Given the description of an element on the screen output the (x, y) to click on. 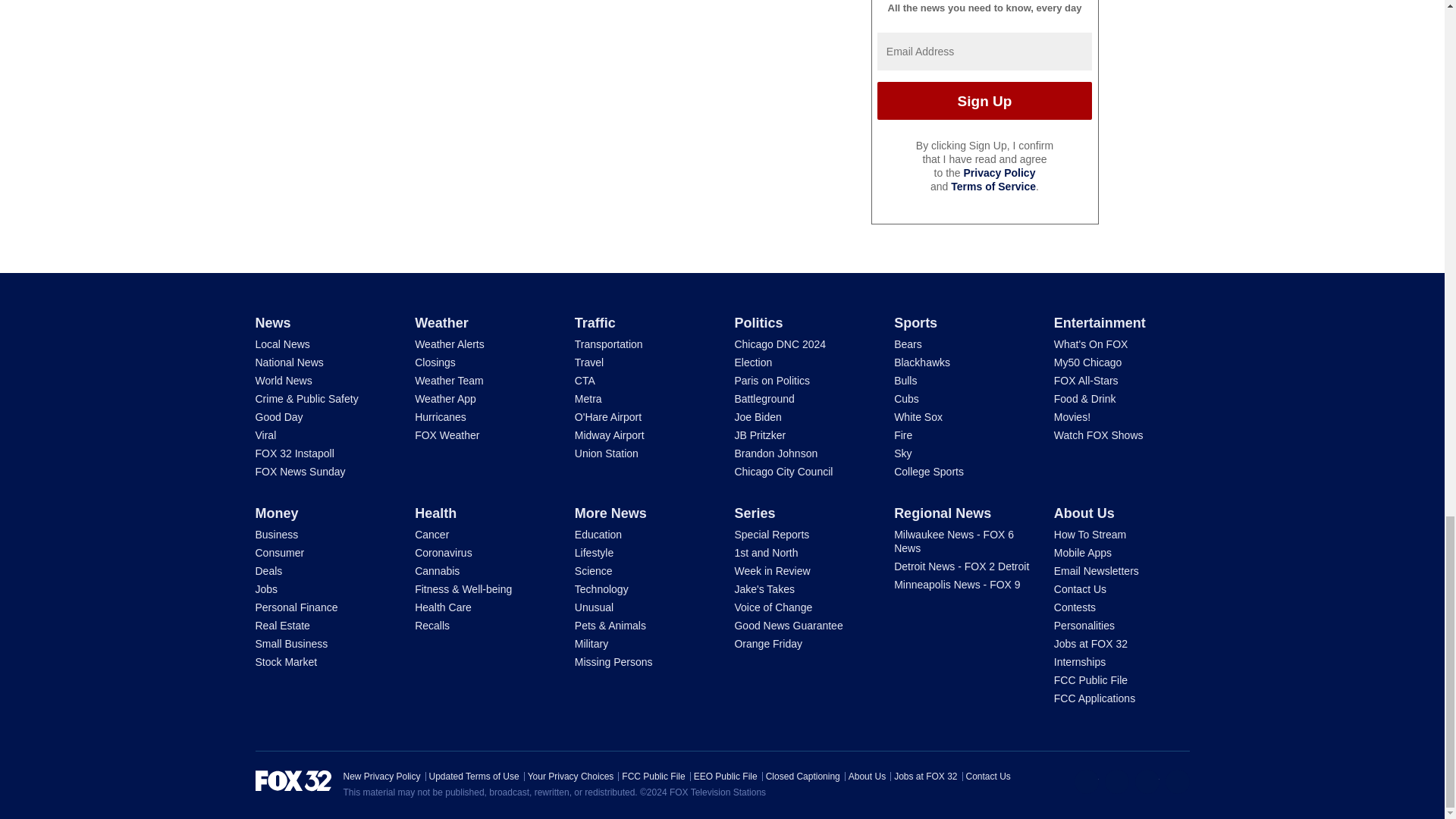
Sign Up (984, 100)
